Given the description of an element on the screen output the (x, y) to click on. 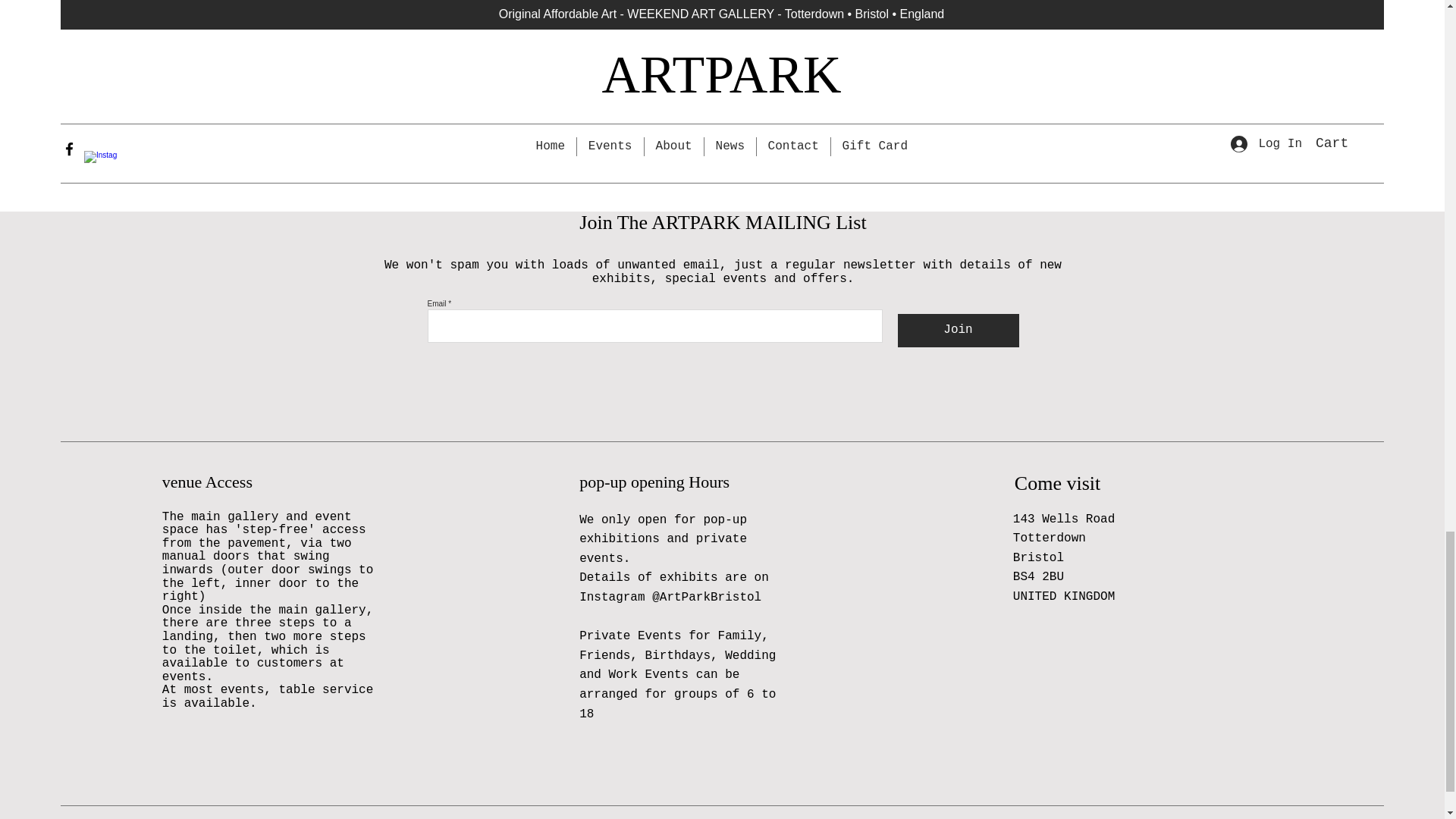
Join (958, 330)
